Given the description of an element on the screen output the (x, y) to click on. 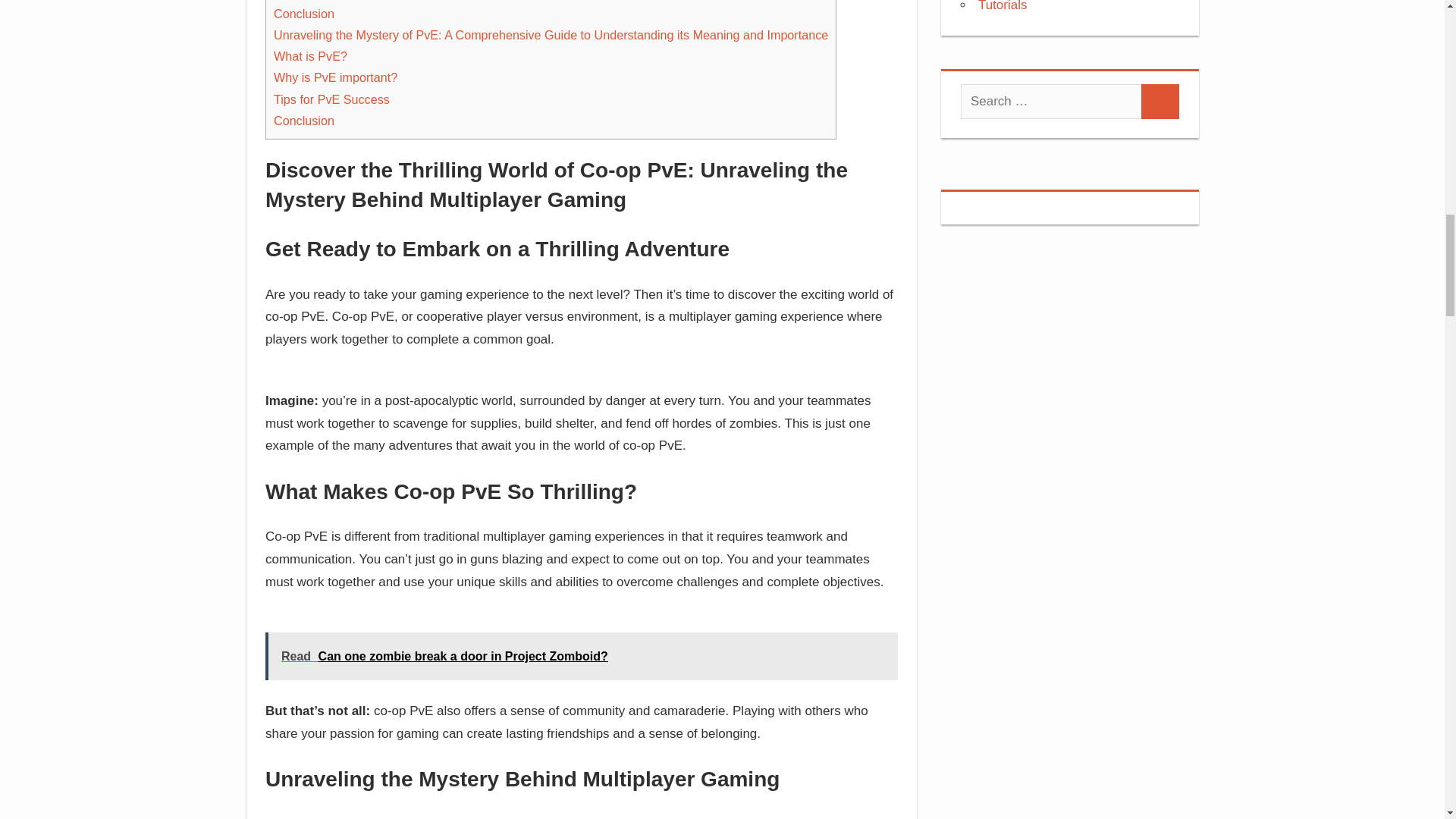
Why is PvE important? (335, 77)
Conclusion (303, 13)
Search for: (1050, 101)
Conclusion (303, 120)
Read  Can one zombie break a door in Project Zomboid? (581, 656)
What is PvE? (310, 56)
Tips for PvE Success (331, 99)
